Given the description of an element on the screen output the (x, y) to click on. 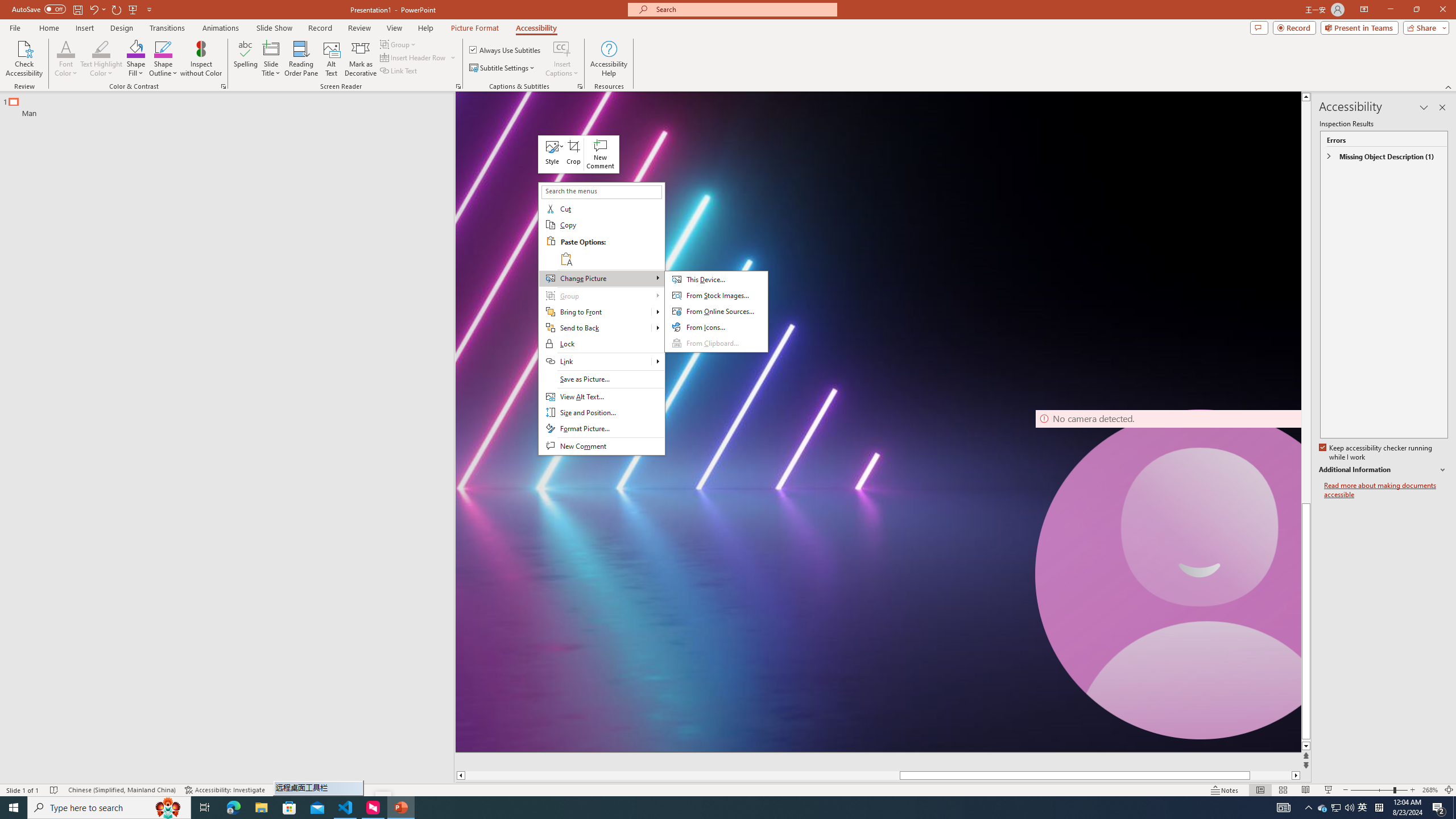
Always Use Subtitles (505, 49)
Bring to Front (594, 312)
Picture Format (475, 28)
